Given the description of an element on the screen output the (x, y) to click on. 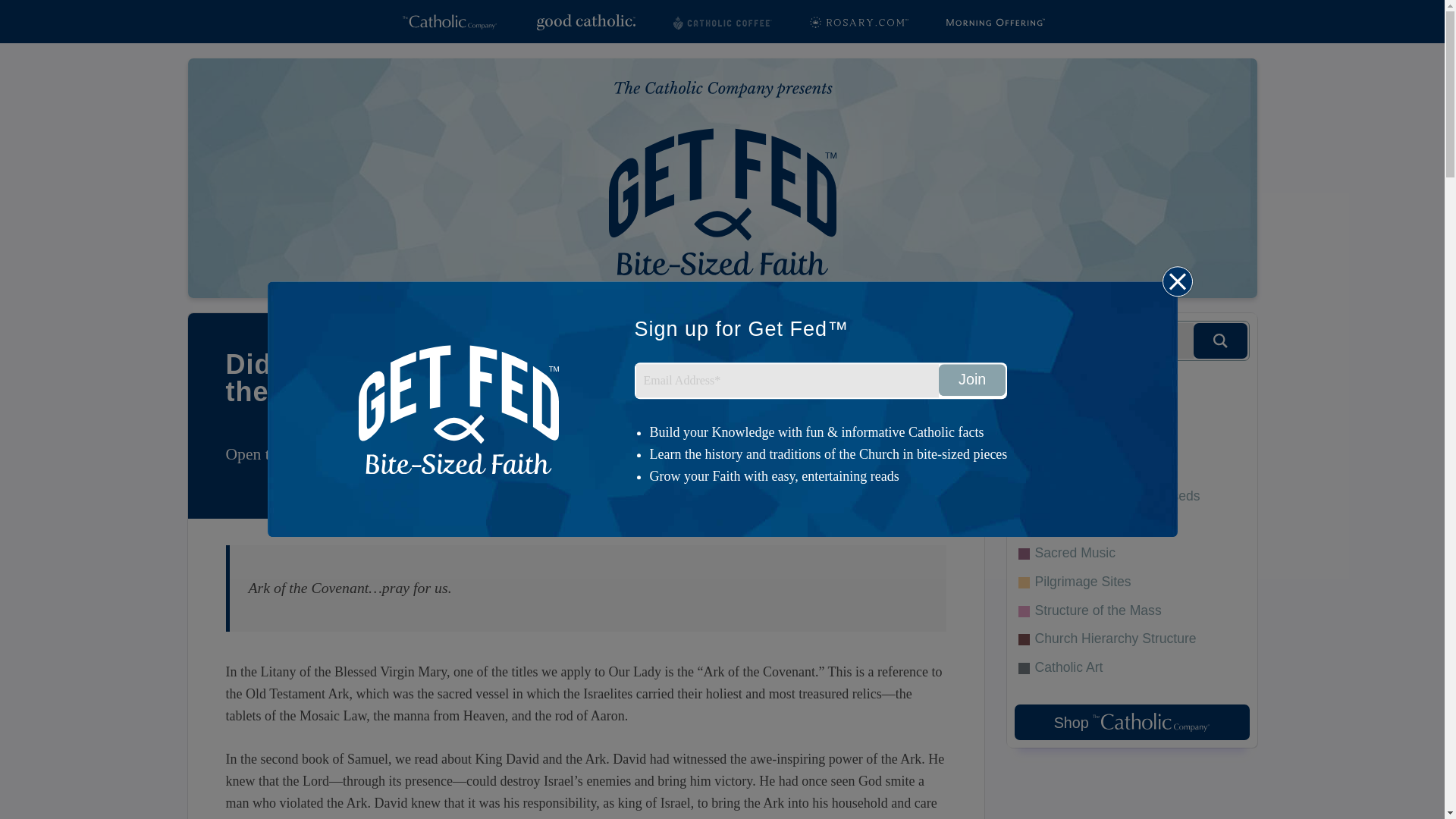
Apologetics (1131, 398)
Pilgrimage Sites (1131, 582)
Fun Facts (1131, 425)
Church Hierarchy Structure (1131, 638)
Church History (1131, 525)
Sacred Music (1131, 553)
Catholic Living (1131, 454)
Join (972, 379)
Shop (1131, 722)
Structure of the Mass (1131, 610)
